Given the description of an element on the screen output the (x, y) to click on. 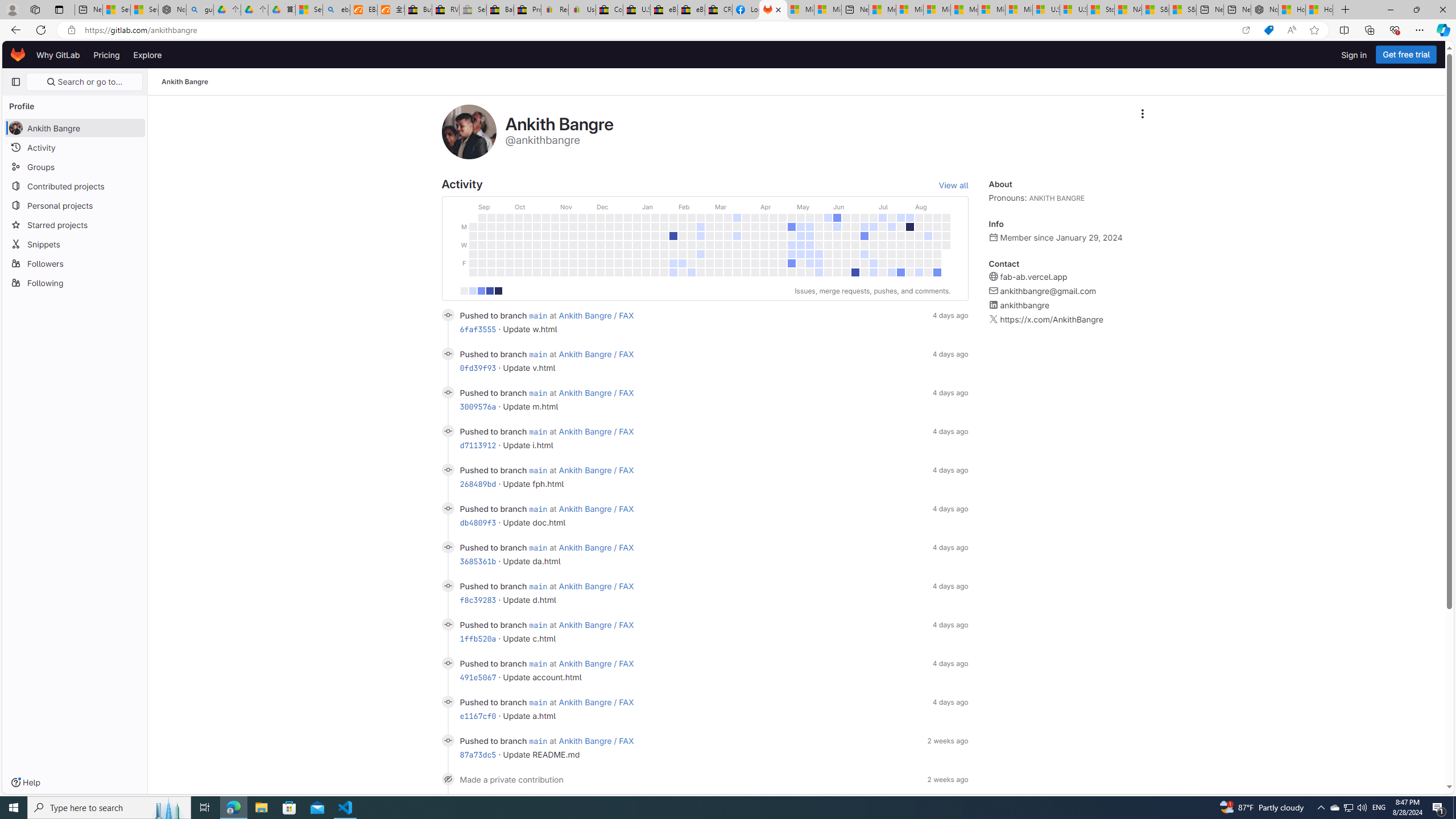
fab-ab.vercel.app (1033, 277)
U.S. State Privacy Disclosures - eBay Inc. (636, 9)
